Given the description of an element on the screen output the (x, y) to click on. 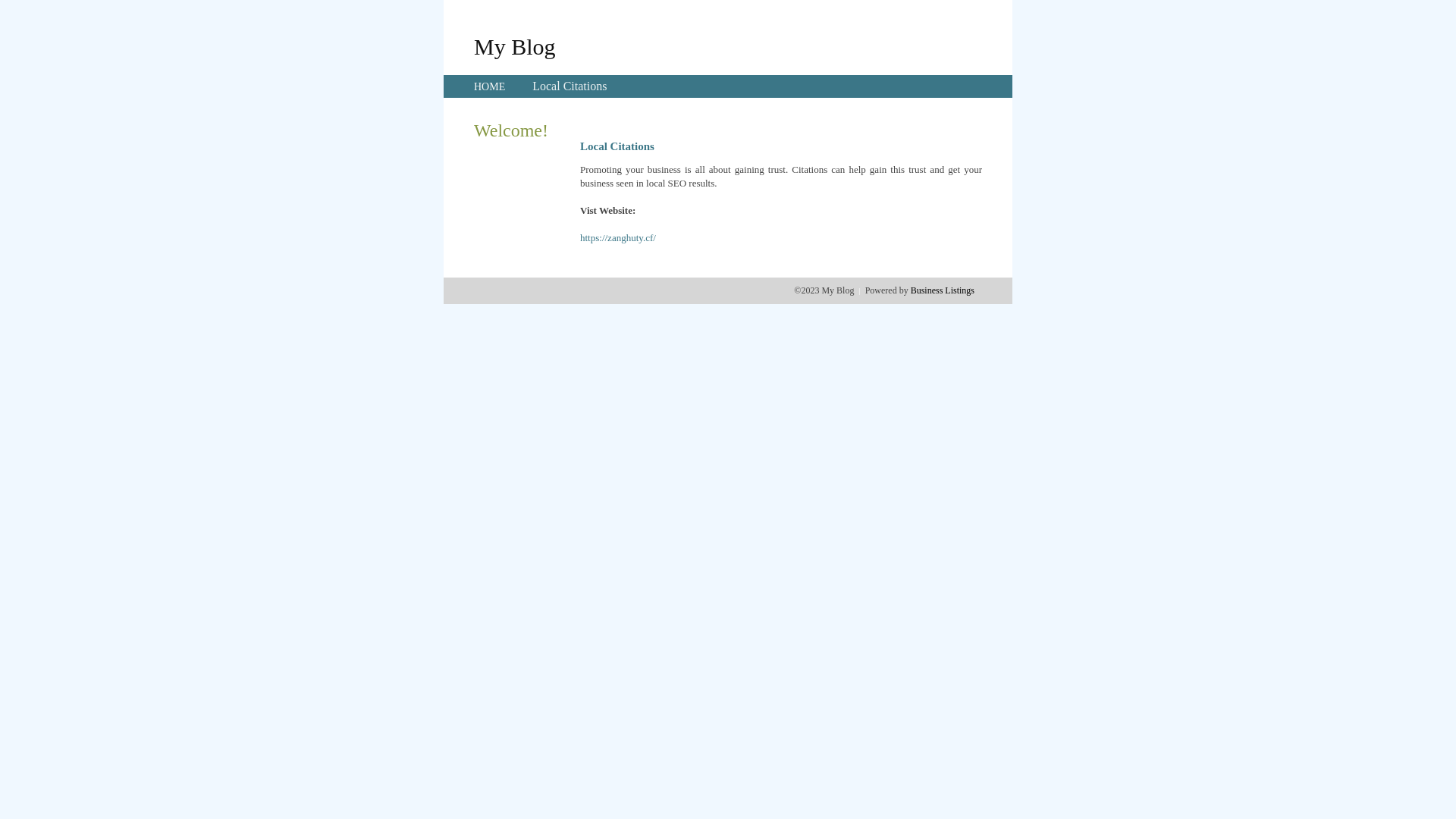
Business Listings Element type: text (942, 290)
https://zanghuty.cf/ Element type: text (617, 237)
My Blog Element type: text (514, 46)
Local Citations Element type: text (569, 85)
HOME Element type: text (489, 86)
